Given the description of an element on the screen output the (x, y) to click on. 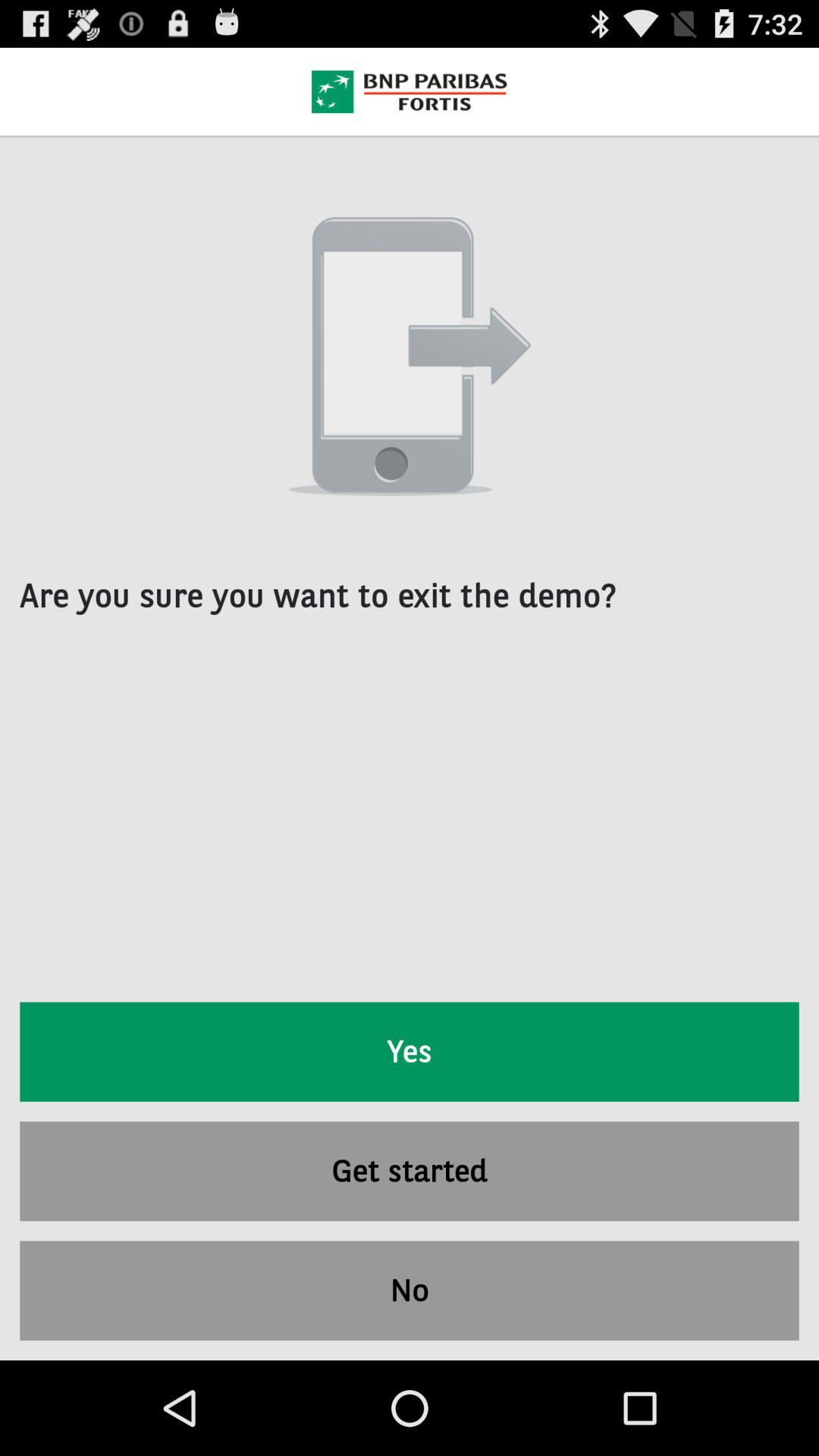
open yes item (409, 1051)
